Given the description of an element on the screen output the (x, y) to click on. 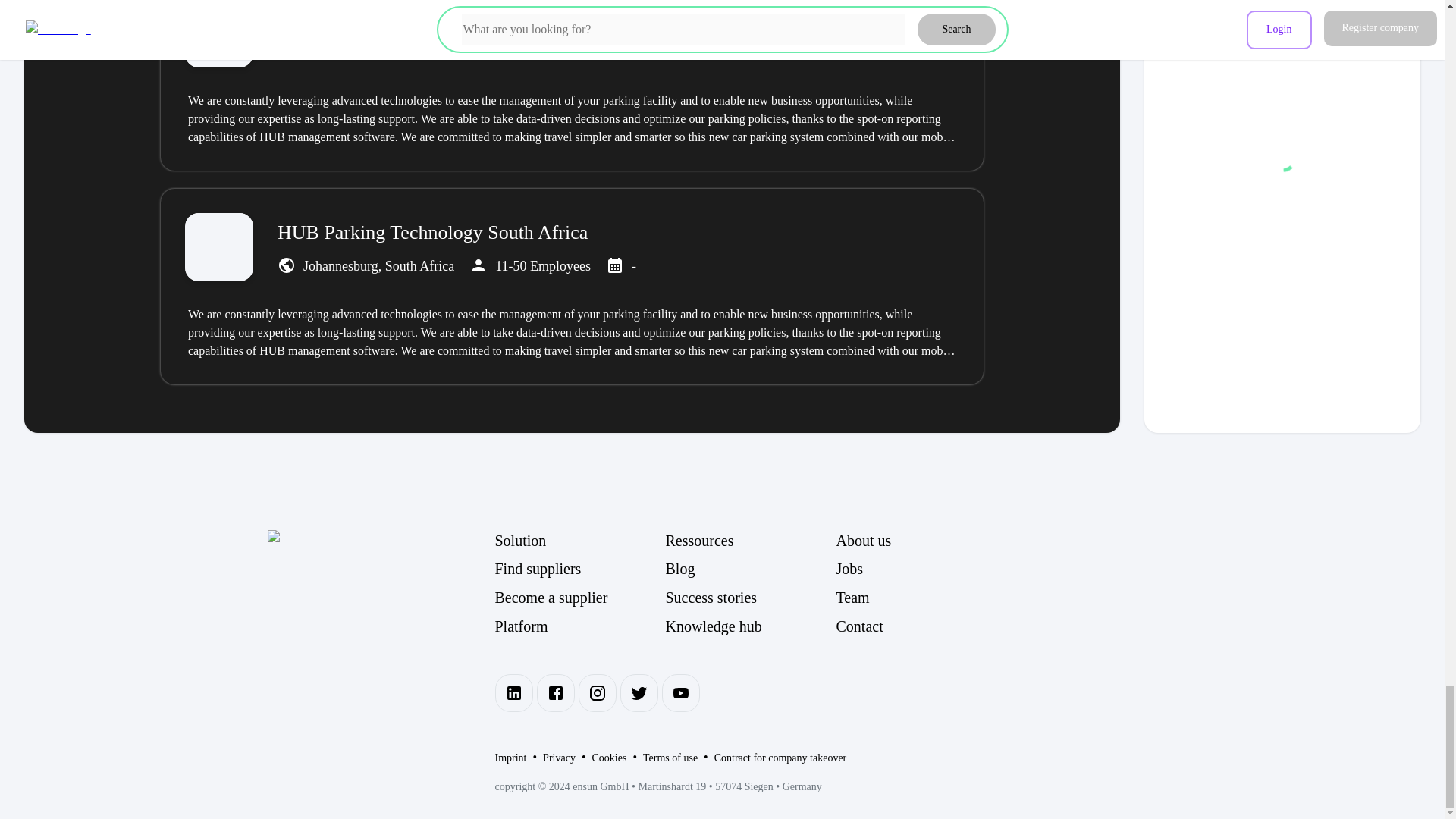
Jobs (920, 568)
Find suppliers (580, 568)
Blog (750, 568)
Contact (920, 626)
Imprint (510, 757)
Success stories (750, 597)
Become a supplier (580, 597)
Knowledge hub (750, 626)
Platform (580, 626)
Team (920, 597)
